Given the description of an element on the screen output the (x, y) to click on. 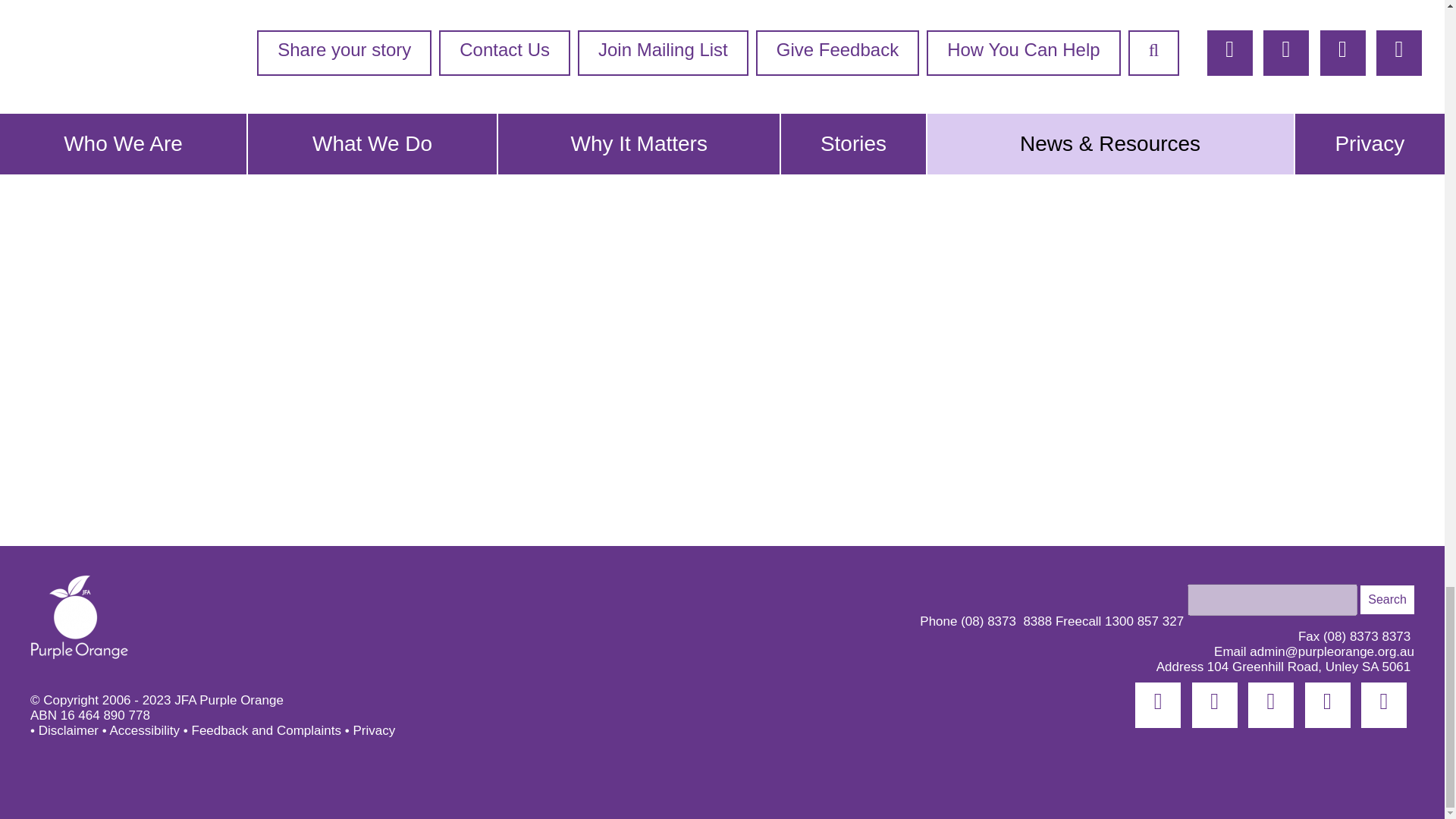
Search (1386, 599)
Feedback and Complaints (265, 730)
Search (1386, 599)
Accessibility (144, 730)
Julia Farr Youth Mentoring (773, 92)
Purple Orange logo. (79, 617)
Privacy (373, 730)
Disclaimer (69, 730)
